Given the description of an element on the screen output the (x, y) to click on. 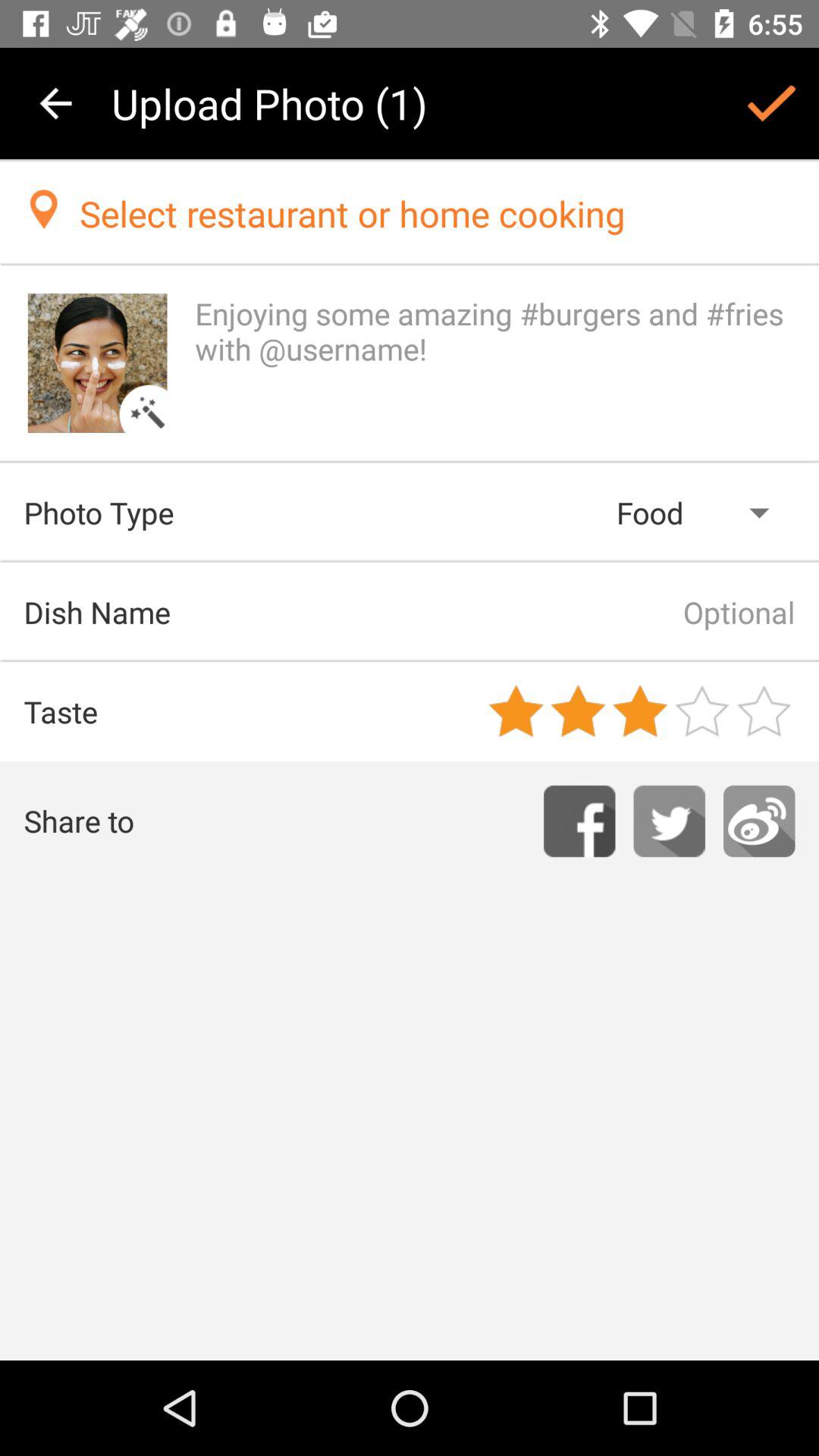
share to website (759, 821)
